Given the description of an element on the screen output the (x, y) to click on. 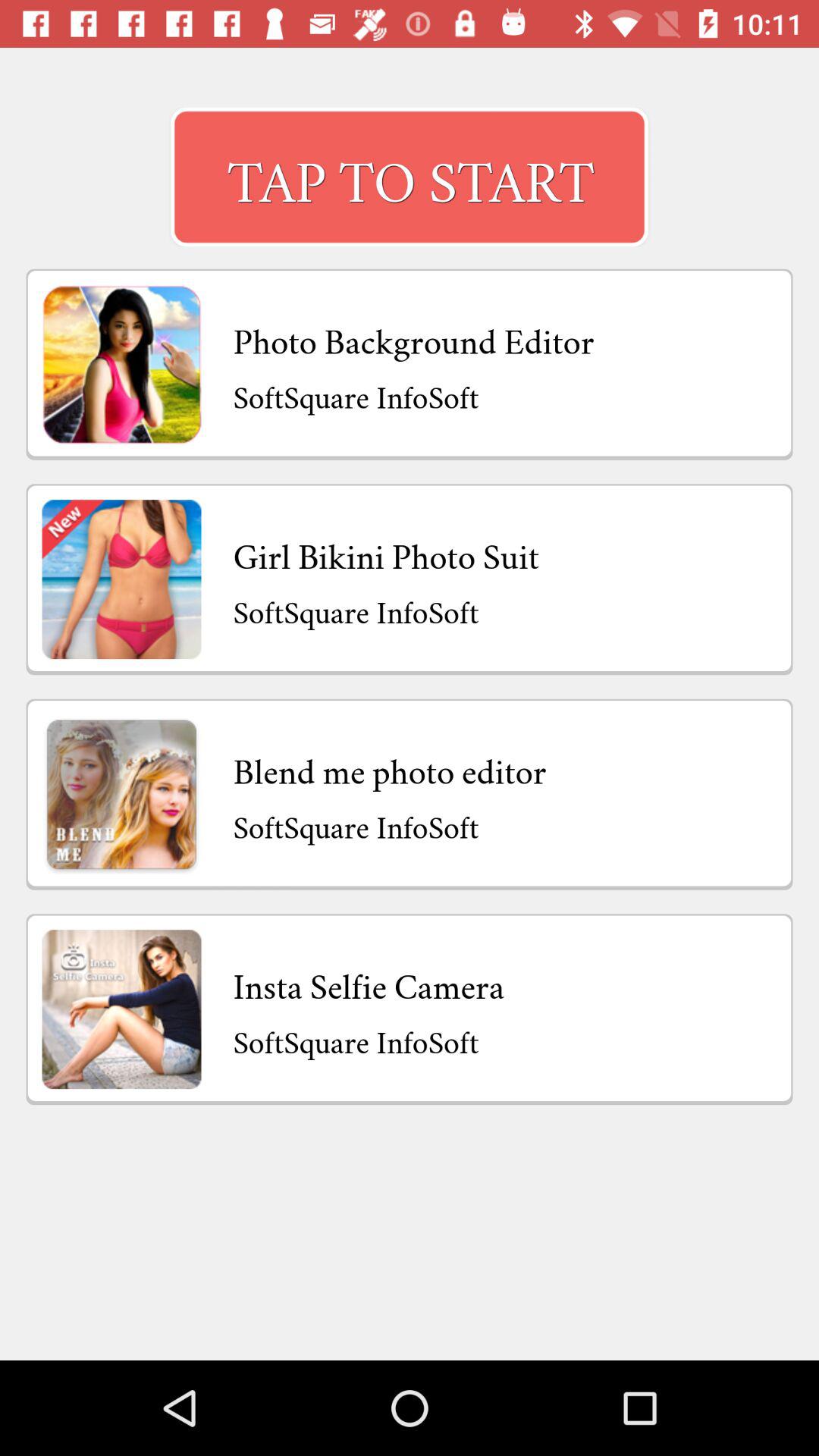
scroll until blend me photo item (389, 767)
